Given the description of an element on the screen output the (x, y) to click on. 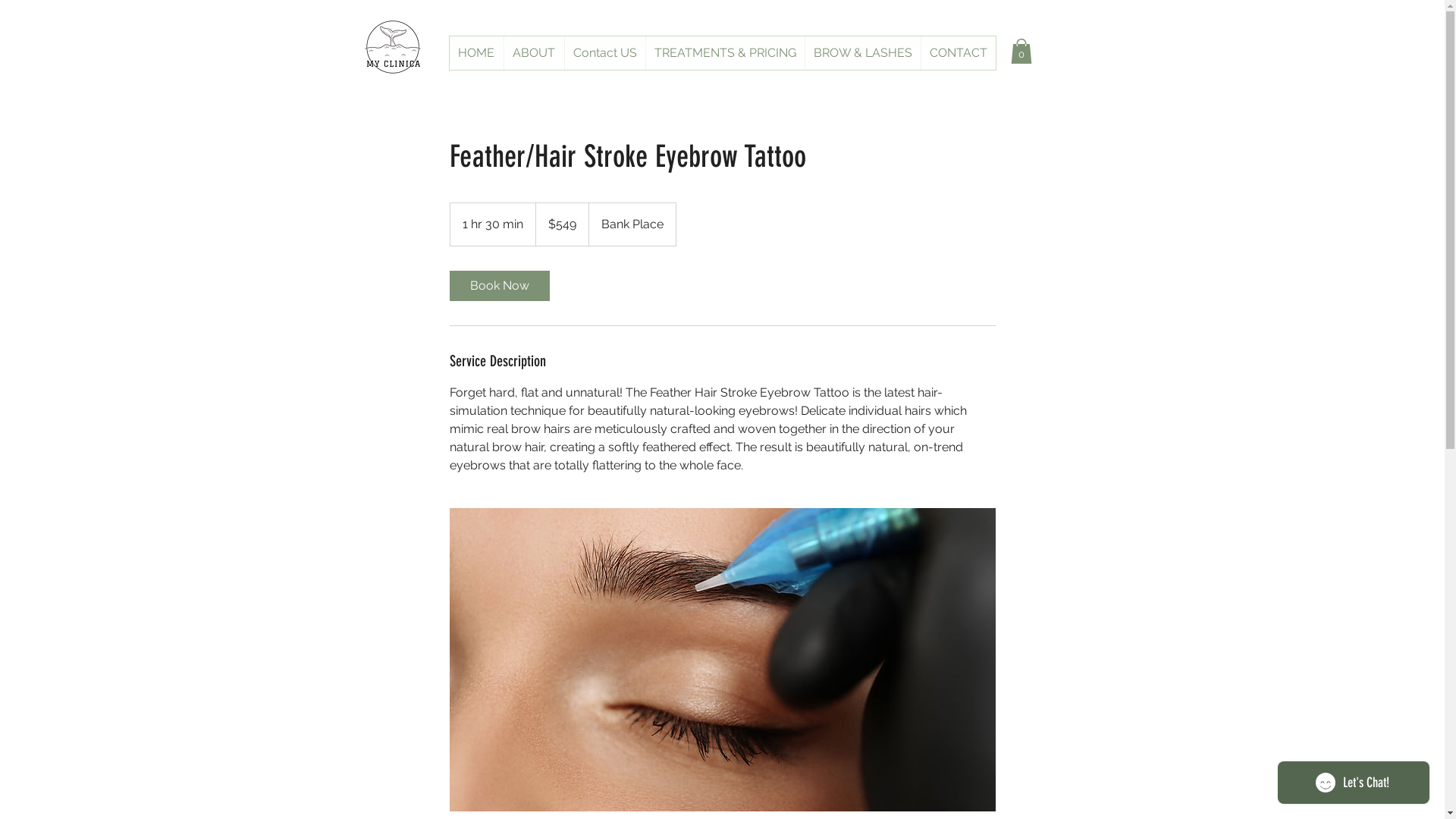
Book Now Element type: text (498, 285)
TREATMENTS & PRICING Element type: text (723, 52)
CONTACT Element type: text (957, 52)
Contact US Element type: text (604, 52)
ABOUT Element type: text (533, 52)
0 Element type: text (1020, 50)
HOME Element type: text (475, 52)
BROW & LASHES Element type: text (861, 52)
